Given the description of an element on the screen output the (x, y) to click on. 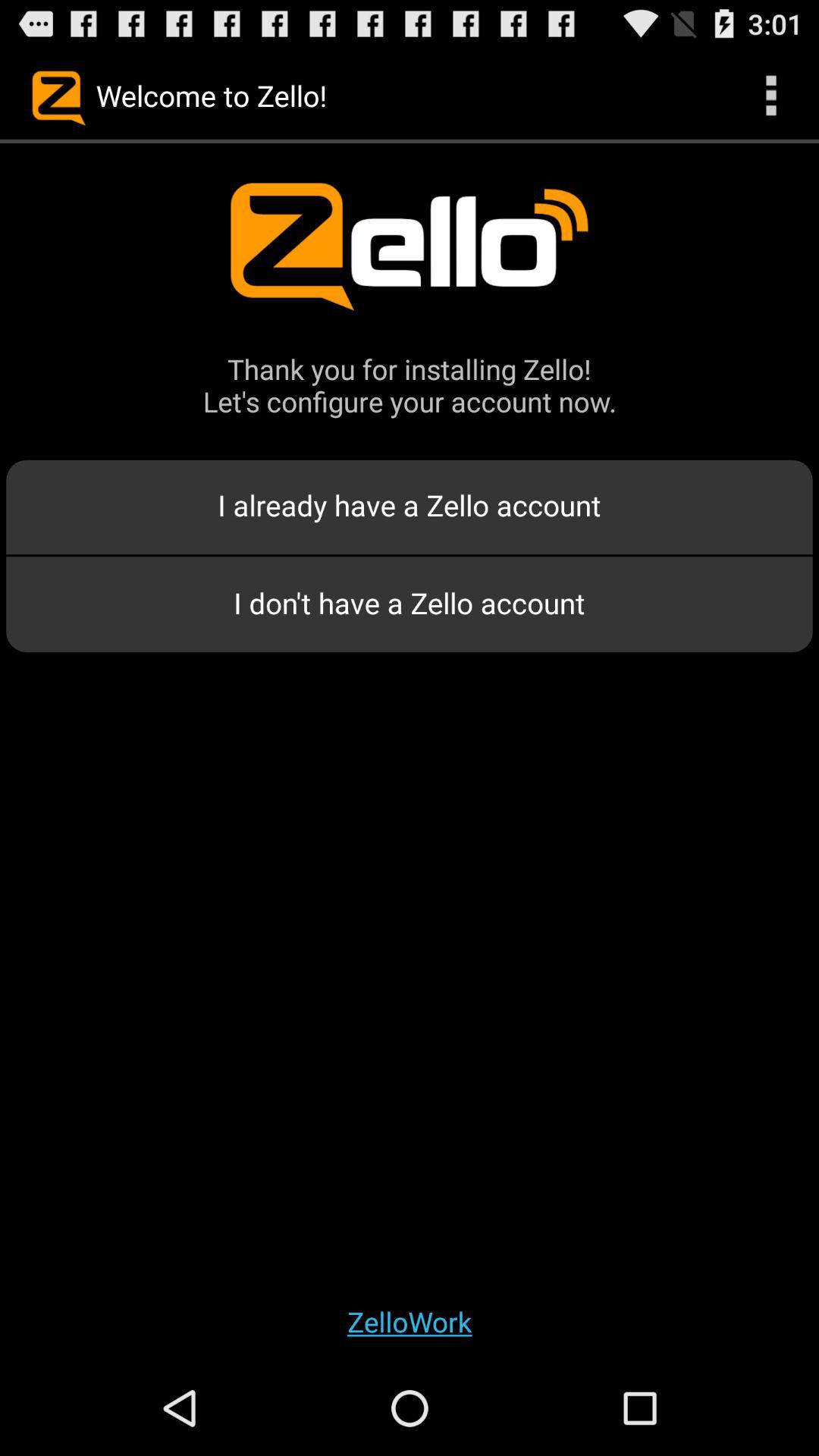
launch the app below i don t (409, 1321)
